Given the description of an element on the screen output the (x, y) to click on. 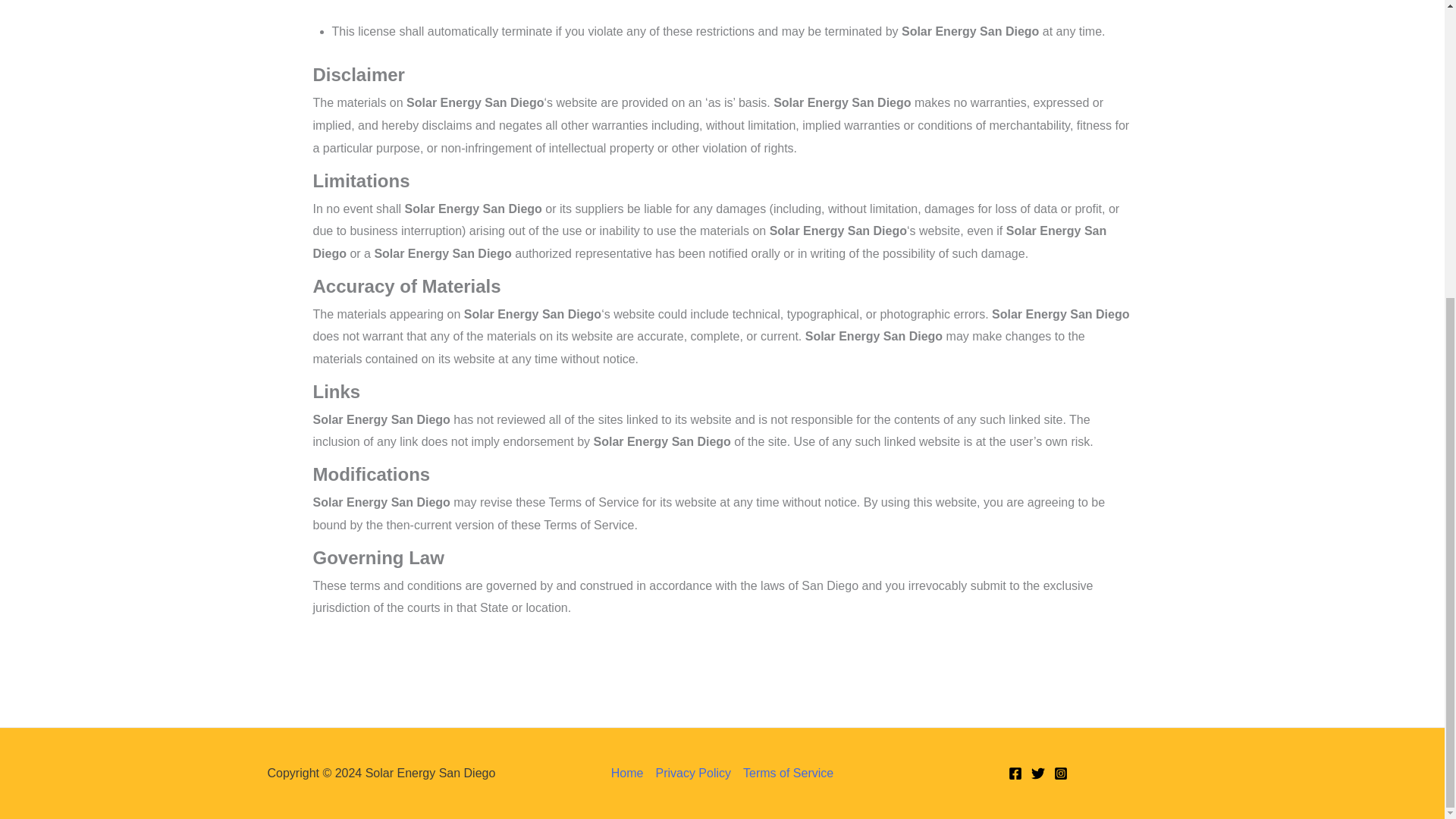
Privacy Policy (692, 773)
Home (630, 773)
Terms of Service (784, 773)
